Given the description of an element on the screen output the (x, y) to click on. 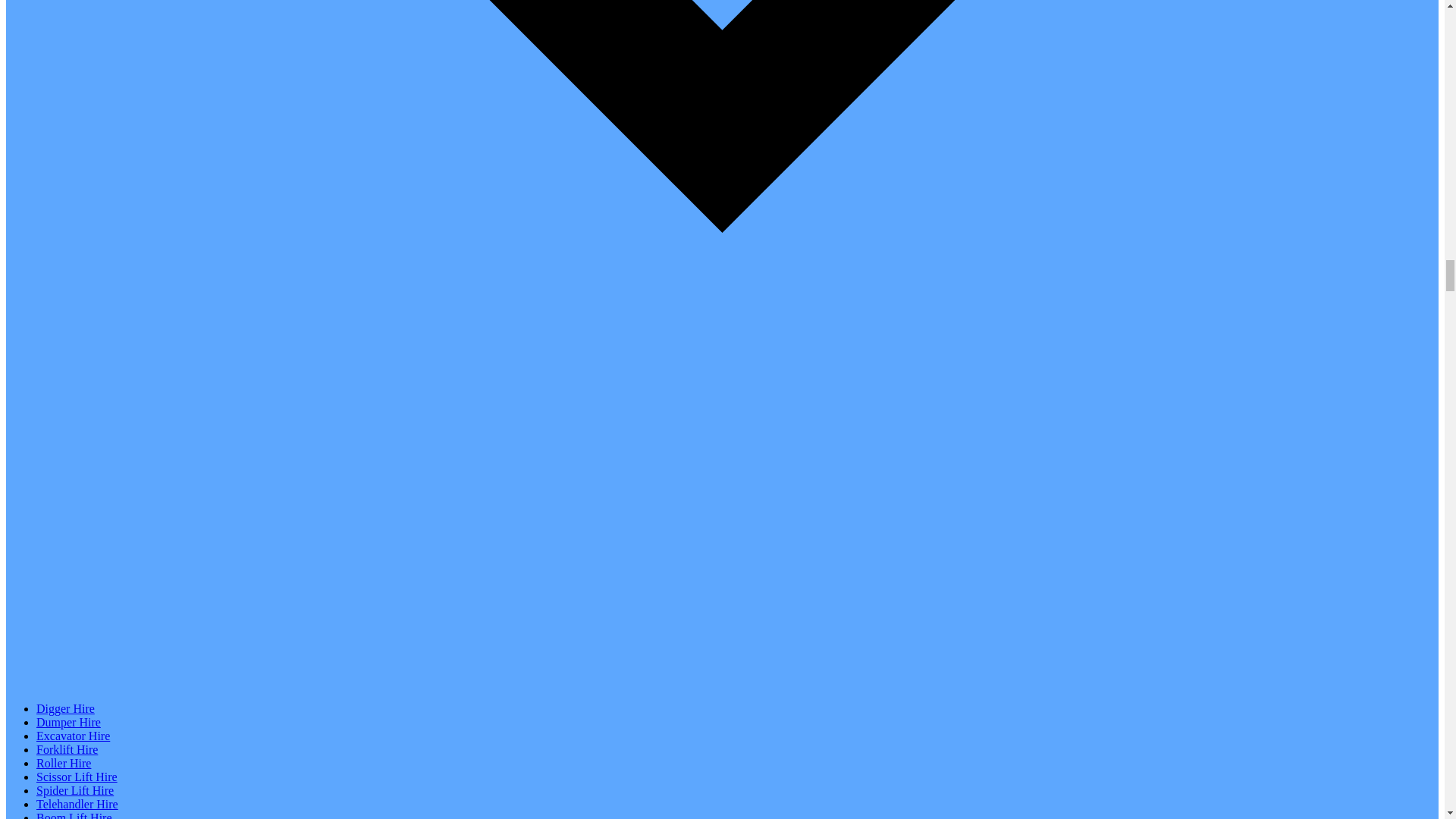
Excavator Hire (73, 735)
Roller Hire (63, 762)
Telehandler Hire (76, 803)
Boom Lift Hire (74, 815)
Scissor Lift Hire (76, 776)
Spider Lift Hire (74, 789)
Forklift Hire (66, 748)
Digger Hire (65, 707)
Dumper Hire (68, 721)
